Given the description of an element on the screen output the (x, y) to click on. 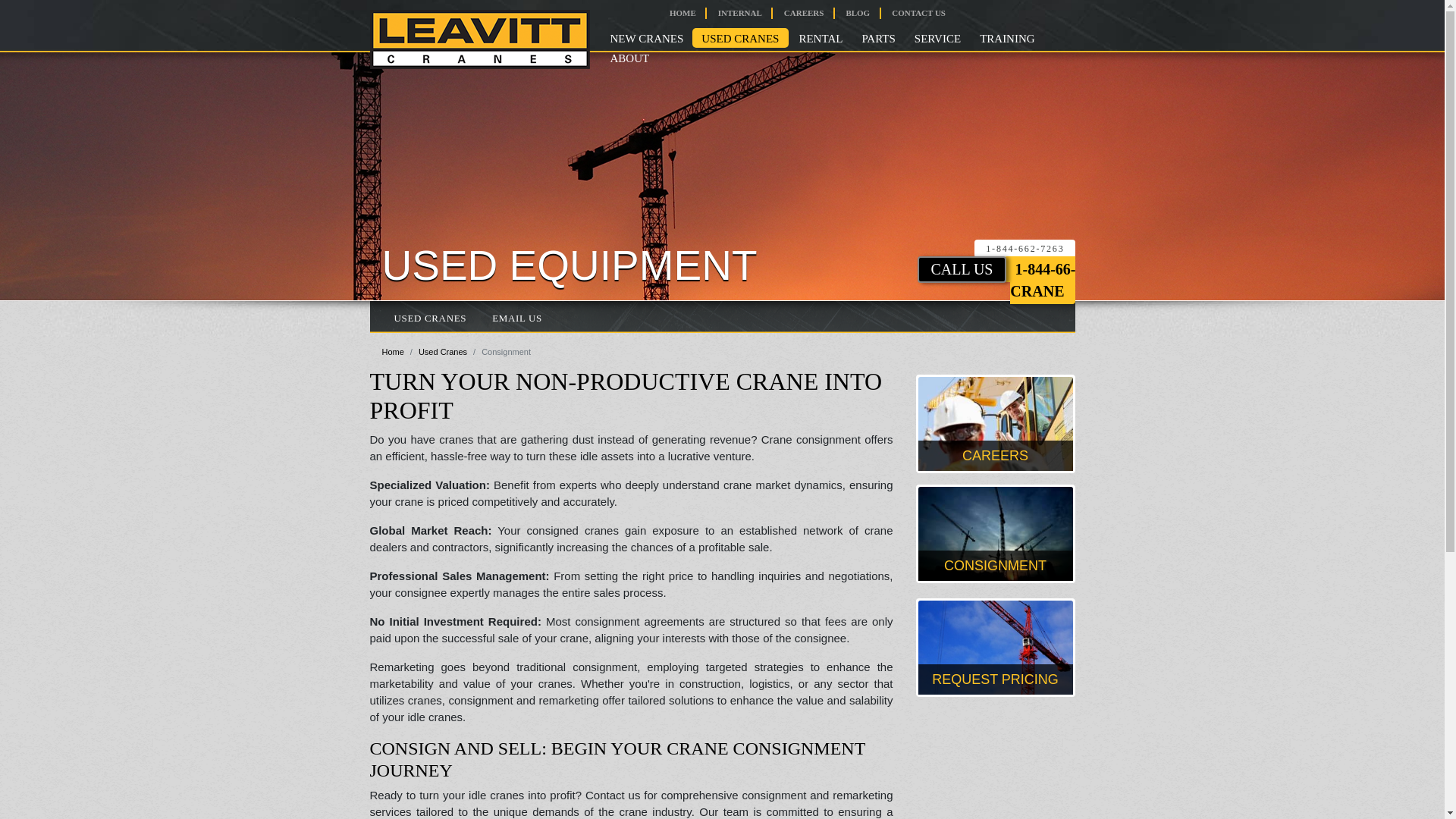
BLOG (857, 12)
PARTS (877, 37)
CONTACT US (917, 12)
Used Cranes (741, 37)
CAREERS (803, 12)
INTERNAL (739, 12)
USED CRANES (741, 37)
HOME (682, 12)
SERVICE (936, 37)
BLOG (857, 12)
NEW CRANES (646, 37)
HOME (682, 12)
Leavitt Logo (479, 38)
INTERNAL (739, 12)
CONTACT US (917, 12)
